Given the description of an element on the screen output the (x, y) to click on. 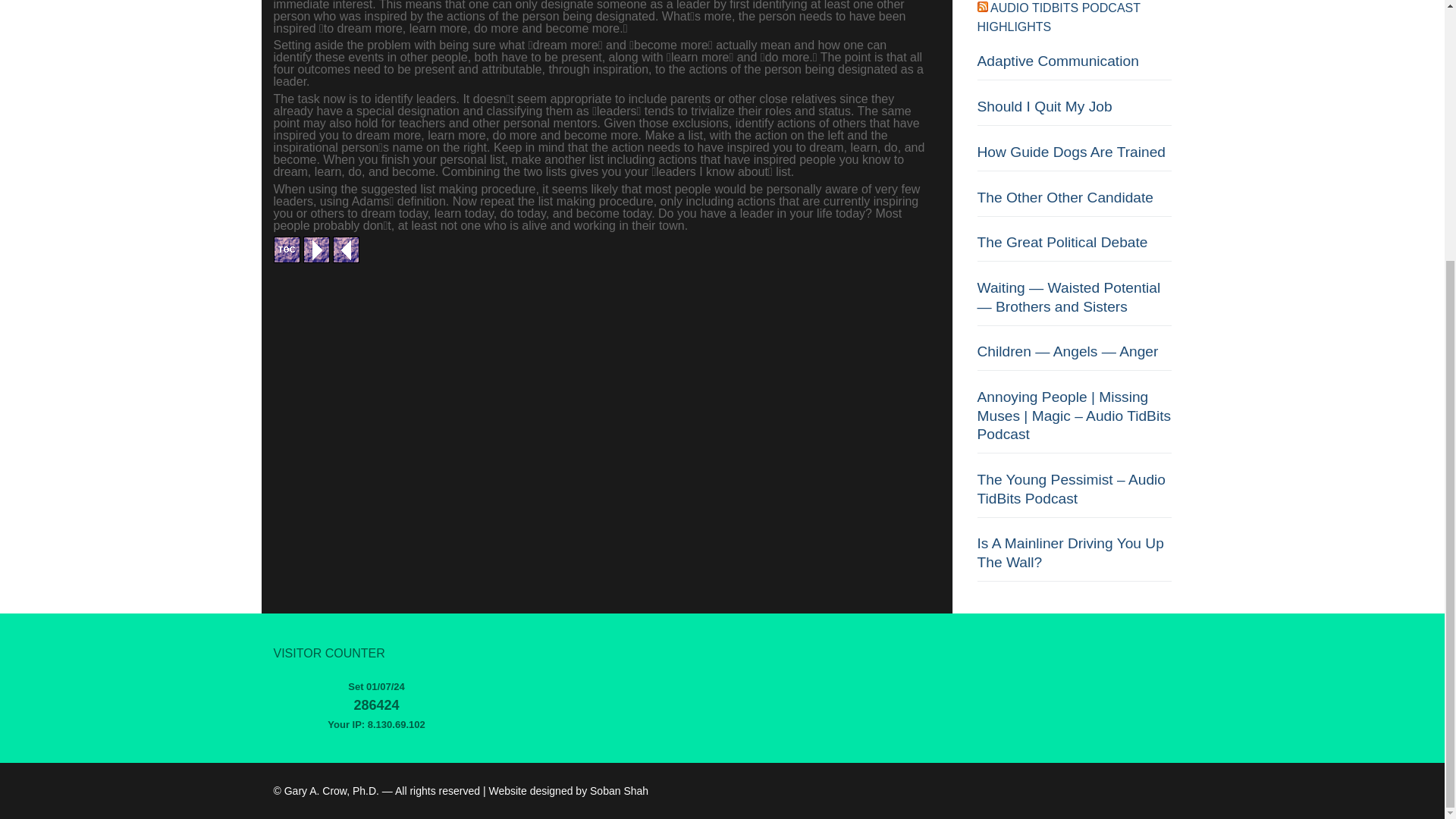
AUDIO TIDBITS PODCAST HIGHLIGHTS (1058, 17)
Is A Mainliner Driving You Up The Wall? (1073, 557)
Should I Quit My Job (1073, 111)
The Other Other Candidate (1073, 203)
How Guide Dogs Are Trained (1073, 157)
Adaptive Communication (1073, 66)
The Great Political Debate (1073, 247)
